Given the description of an element on the screen output the (x, y) to click on. 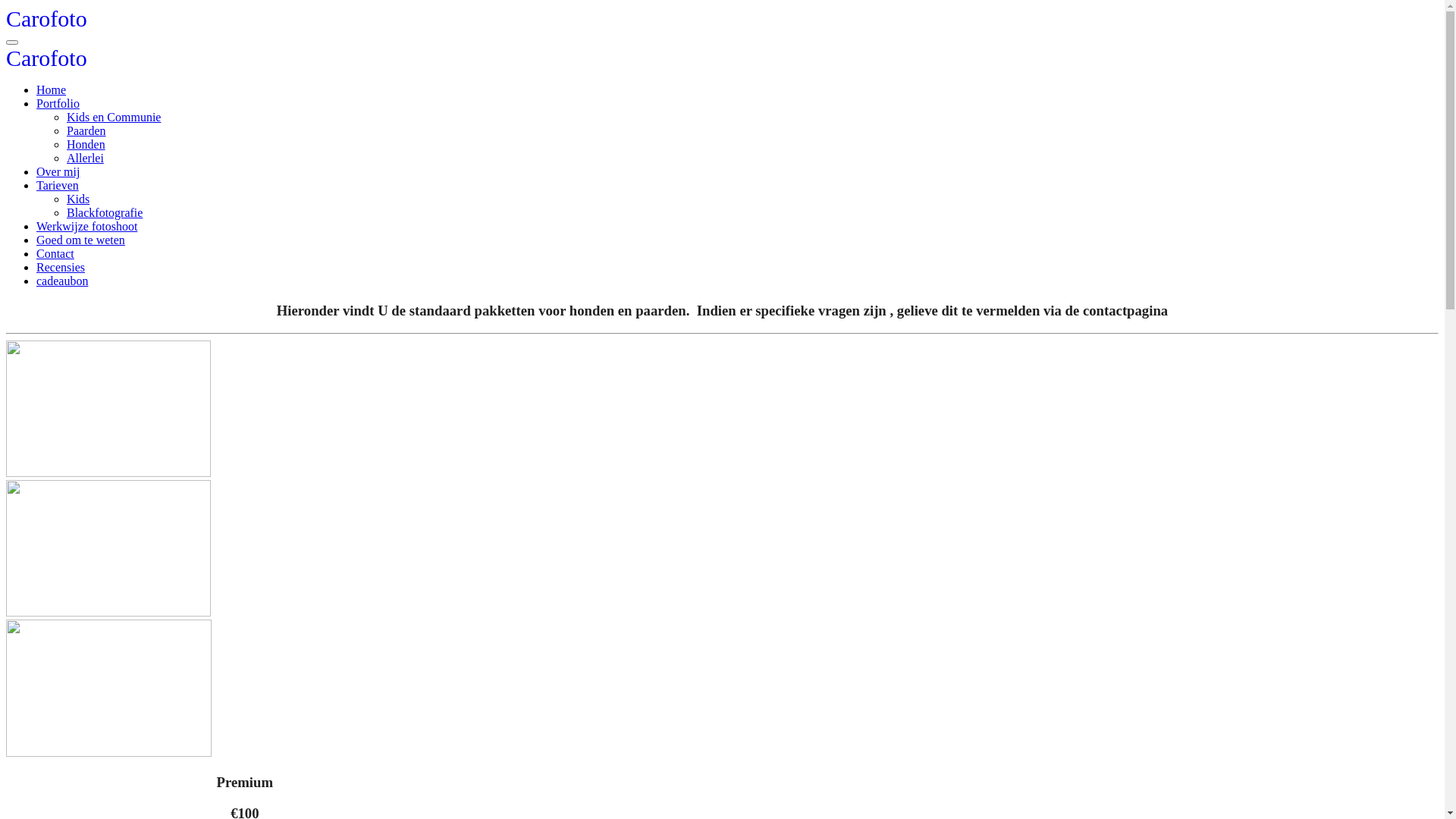
cadeaubon Element type: text (61, 280)
Paarden Element type: text (86, 130)
Kids en Communie Element type: text (113, 116)
Carofoto Element type: text (46, 21)
Blackfotografie Element type: text (104, 212)
Recensies Element type: text (60, 266)
Contact Element type: text (55, 253)
Tarieven Element type: text (57, 184)
Portfolio Element type: text (57, 103)
Allerlei Element type: text (84, 157)
Kids Element type: text (77, 198)
Werkwijze fotoshoot Element type: text (86, 225)
Honden Element type: text (85, 144)
Carofoto Element type: text (46, 61)
Goed om te weten Element type: text (80, 239)
Over mij Element type: text (57, 171)
Home Element type: text (50, 89)
